Given the description of an element on the screen output the (x, y) to click on. 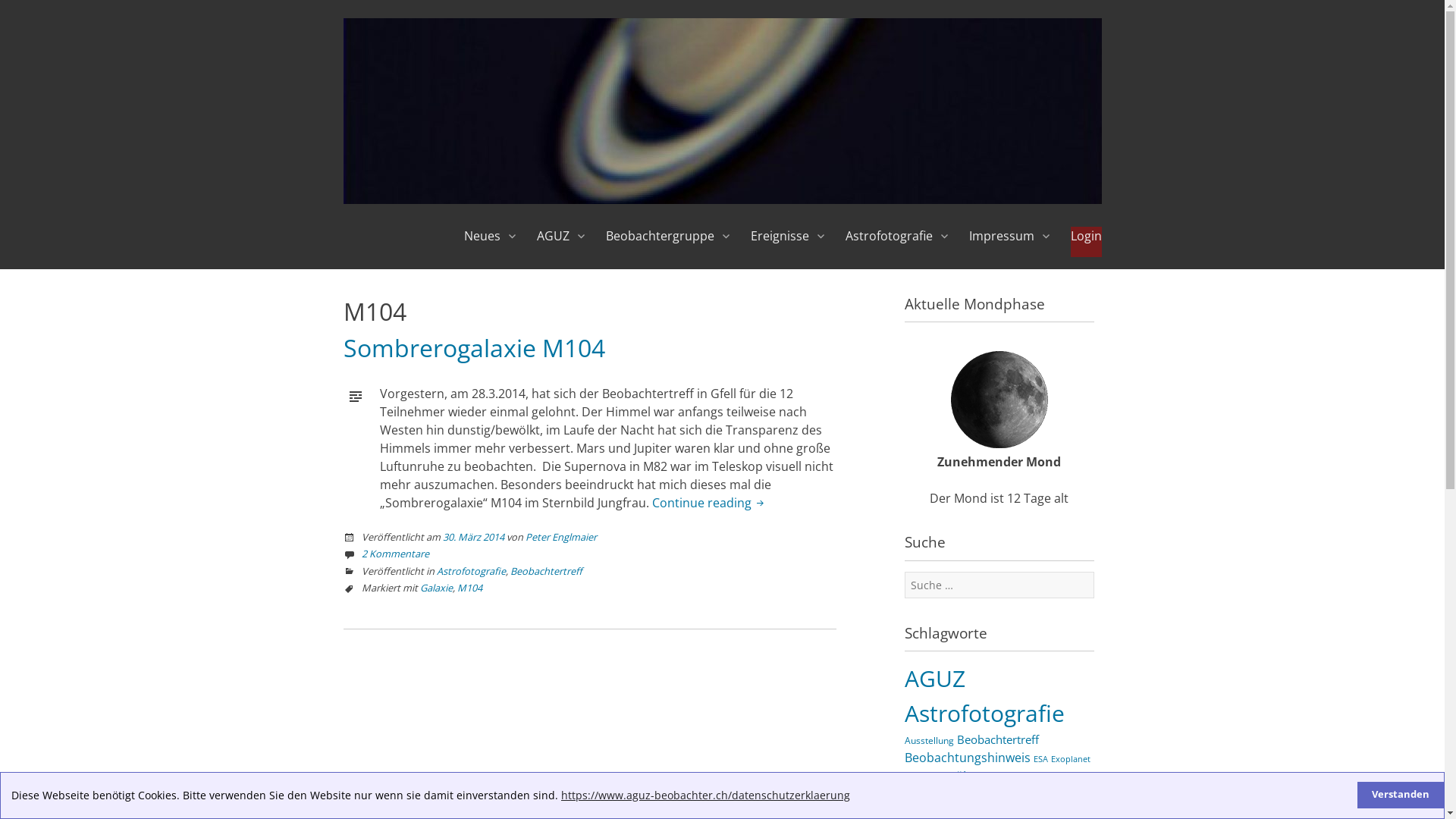
Finsternis Element type: text (923, 777)
Mars Element type: text (1016, 795)
Impressum Element type: text (1007, 241)
Galaxie Element type: text (436, 587)
Ausstellung Element type: text (928, 740)
Merkur Element type: text (1044, 795)
Beobachtertreff Element type: text (545, 570)
Galaxie Element type: text (1016, 777)
Zunehmender Mond Element type: hover (999, 399)
Exoplanet Element type: text (1070, 758)
Beobachtungshinweis Element type: text (966, 757)
AGUZ Element type: text (558, 241)
Astrofotografie Element type: text (470, 570)
Peter Englmaier Element type: text (560, 536)
Suche Element type: text (29, 12)
Astrofotografie Element type: text (983, 712)
Jupiter Element type: text (1049, 777)
Verstanden Element type: text (1400, 794)
Continue reading Element type: text (709, 502)
Mond Element type: text (1077, 795)
2 Kommentare Element type: text (394, 553)
ESA Element type: text (1039, 758)
Beobachtergruppe Element type: text (665, 241)
Beobachtertreff Element type: text (997, 738)
M51 Element type: text (995, 795)
Sombrerogalaxie M104 Element type: text (473, 347)
Komet Element type: text (1079, 777)
Neues Element type: text (488, 241)
Lichtverschmutzung Element type: text (943, 795)
Springe zum Inhalt Element type: text (438, 225)
Astrofotografie Element type: text (894, 241)
M104 Element type: text (468, 587)
Ereignisse Element type: text (785, 241)
Login Element type: text (1085, 241)
https://www.aguz-beobachter.ch/datenschutzerklaerung Element type: text (705, 795)
AGUZ Element type: text (933, 677)
